Given the description of an element on the screen output the (x, y) to click on. 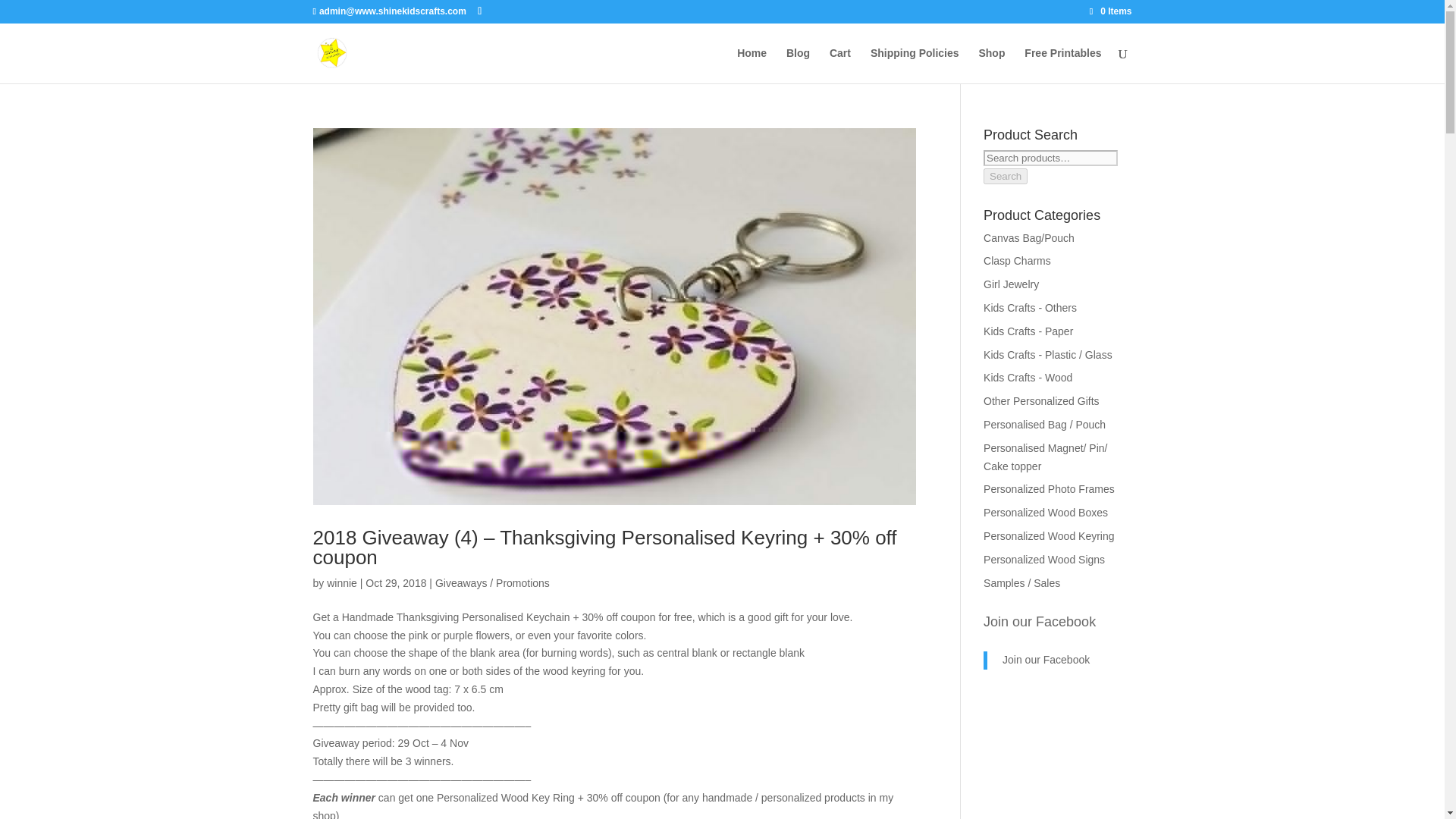
winnie (341, 582)
Search (1005, 176)
Posts by winnie (341, 582)
Shipping Policies (914, 65)
0 Items (1110, 10)
Free Printables (1062, 65)
